Given the description of an element on the screen output the (x, y) to click on. 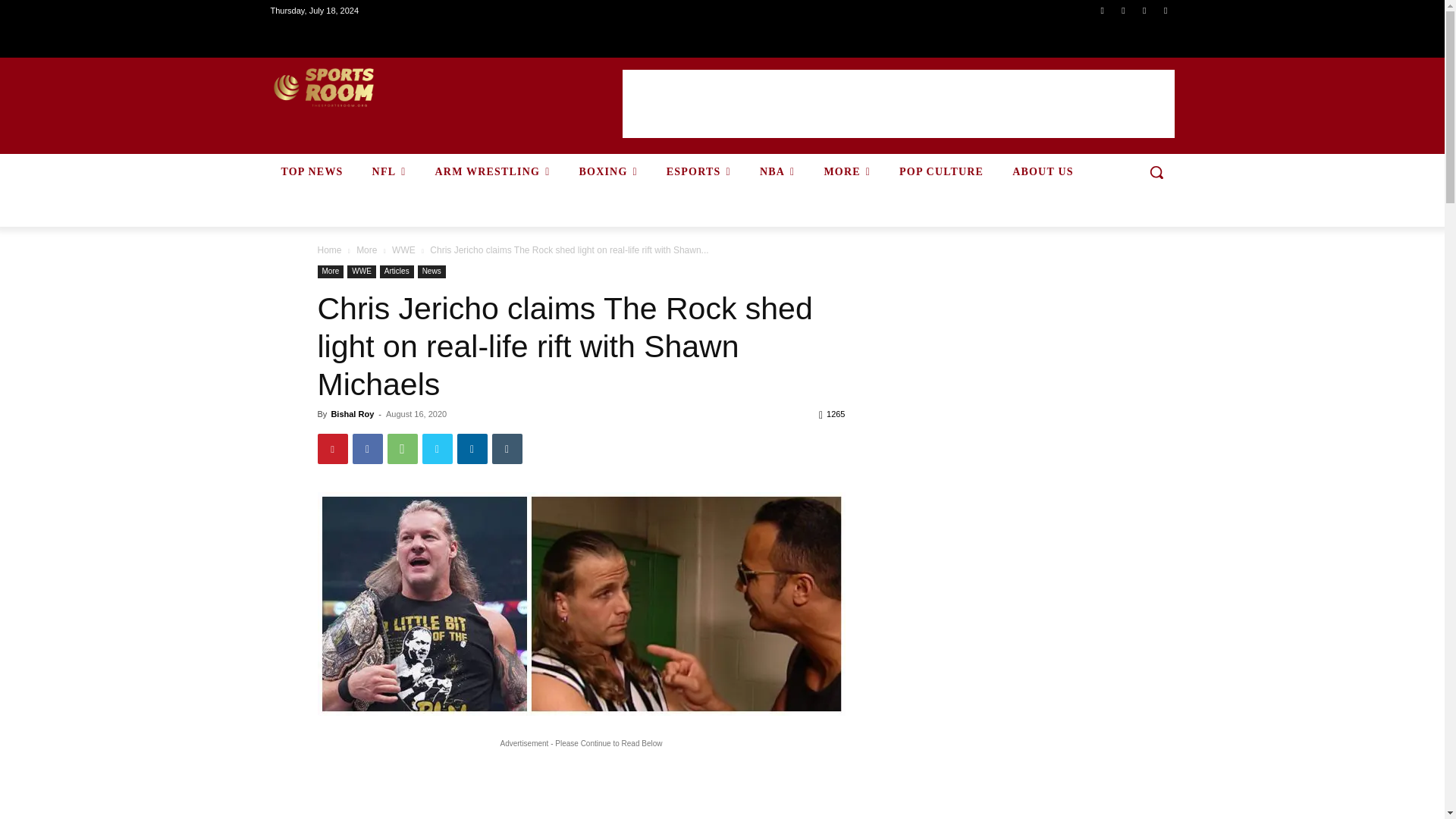
Advertisement (897, 103)
Instagram (1123, 9)
Twitter (1144, 9)
Facebook (1101, 9)
Youtube (1165, 9)
